Given the description of an element on the screen output the (x, y) to click on. 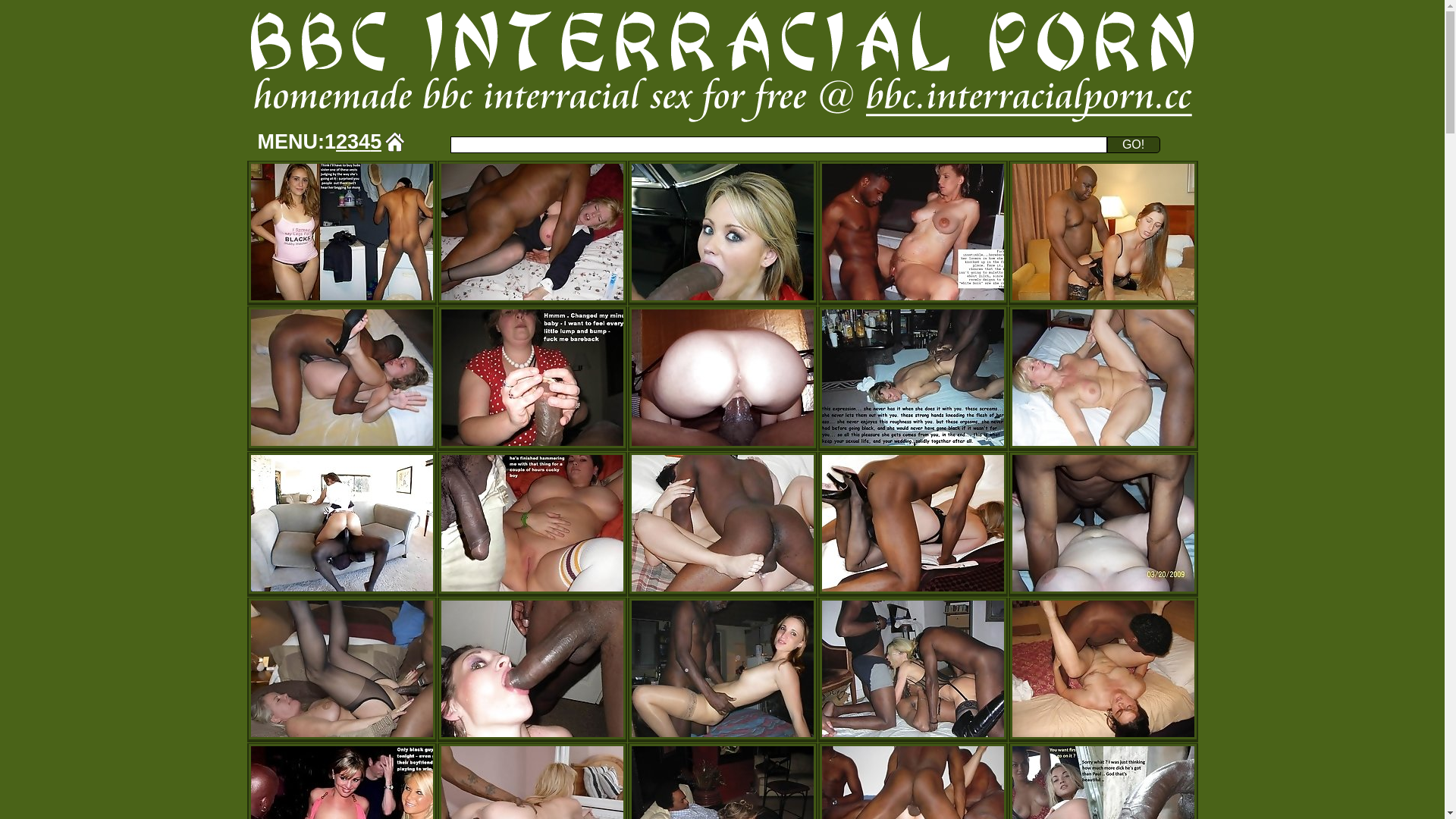
4 Element type: text (364, 141)
5 Element type: text (375, 141)
Search Element type: hover (778, 144)
Home Element type: hover (394, 141)
GO! Element type: text (1133, 144)
2 Element type: text (341, 141)
3 Element type: text (352, 141)
